Given the description of an element on the screen output the (x, y) to click on. 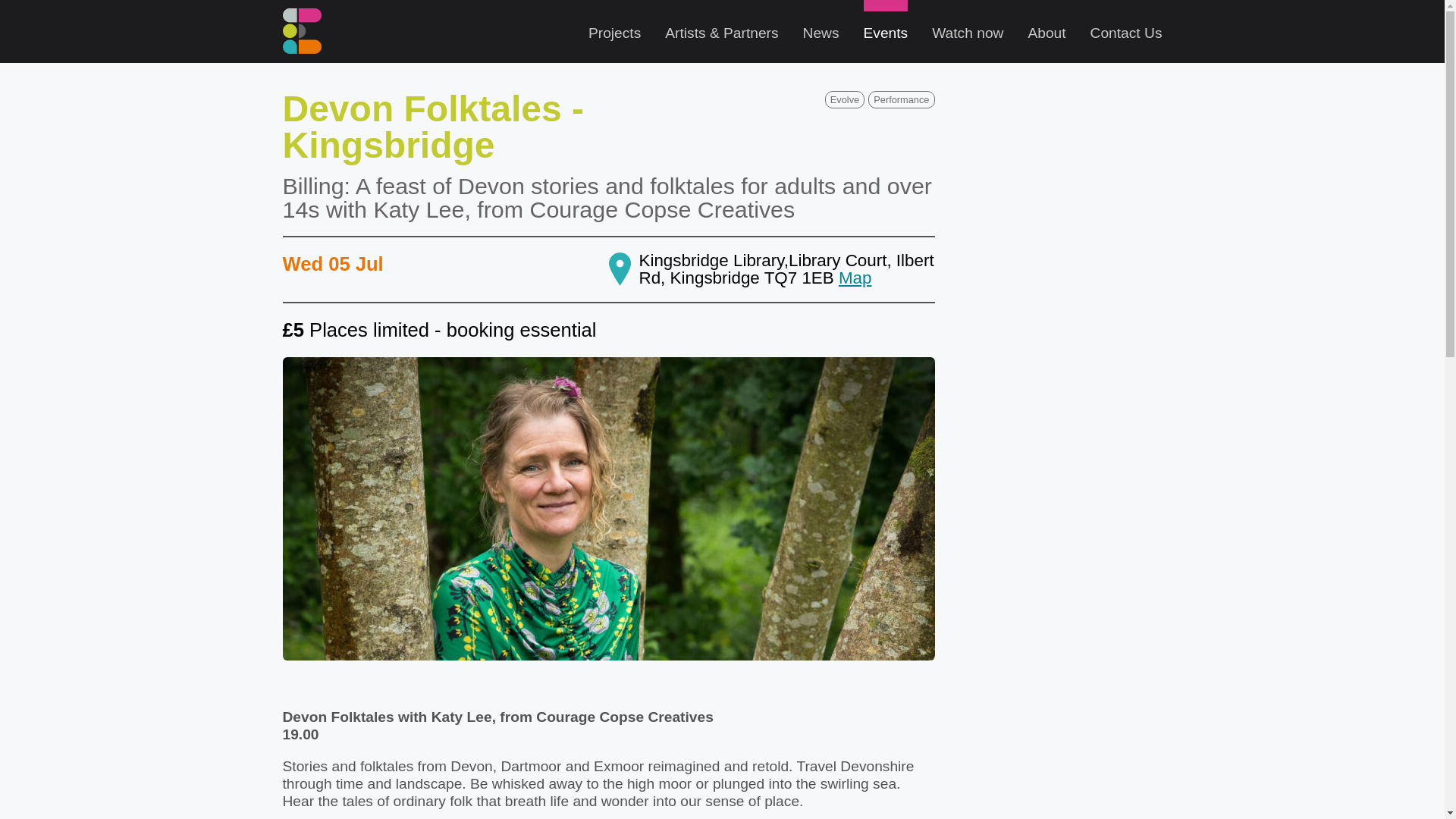
Contact Us (1125, 31)
Watch now (967, 31)
Map (855, 277)
